Given the description of an element on the screen output the (x, y) to click on. 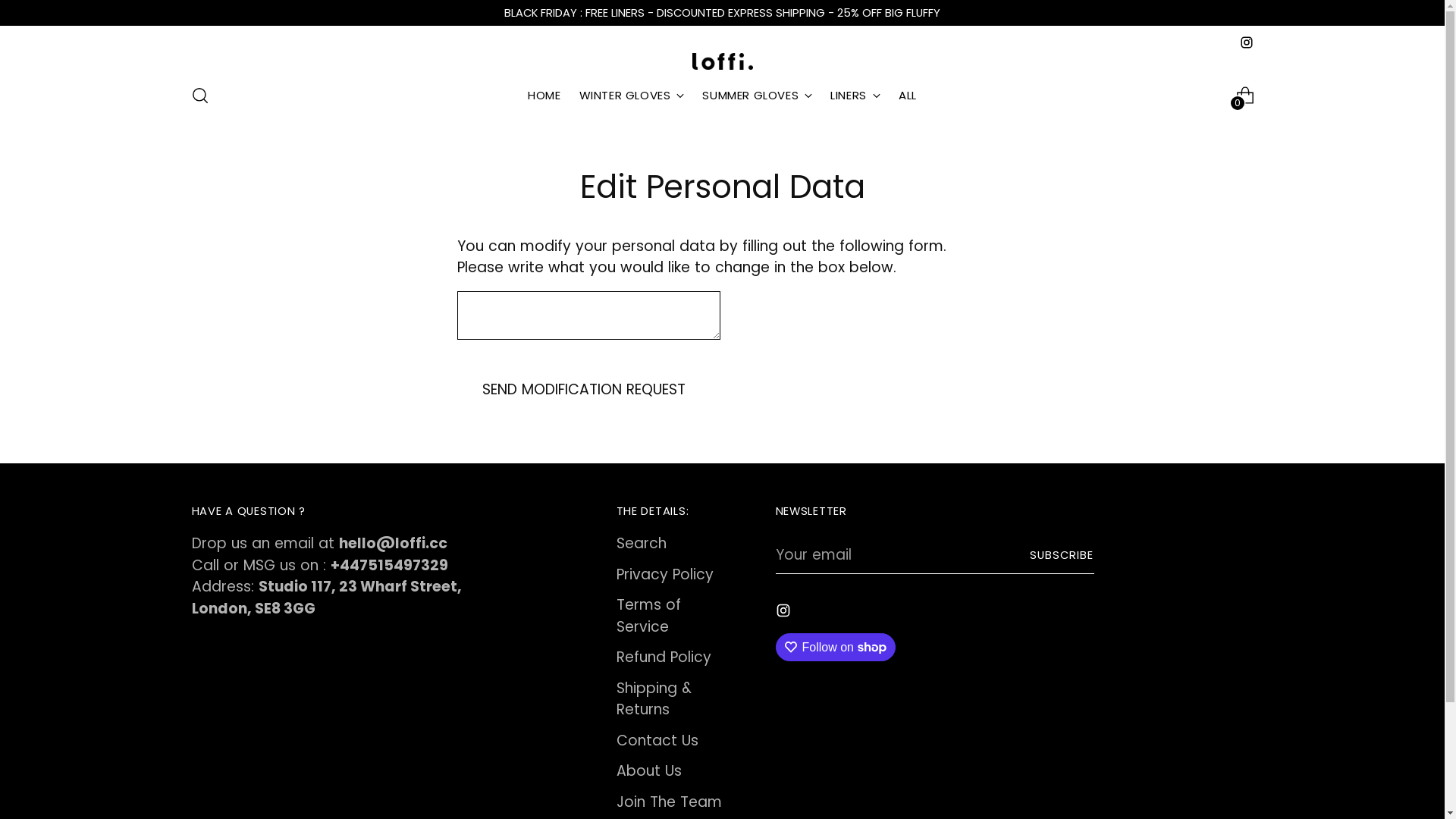
Join The Team Element type: text (668, 801)
0 Element type: text (1245, 95)
LINERS Element type: text (855, 95)
loffi.cc on Instagram Element type: hover (784, 613)
ALL Element type: text (907, 95)
Contact Us Element type: text (656, 740)
Search Element type: text (640, 543)
WINTER GLOVES Element type: text (631, 95)
SUMMER GLOVES Element type: text (757, 95)
SEND MODIFICATION REQUEST Element type: text (583, 389)
Privacy Policy Element type: text (663, 574)
loffi.cc on Instagram Element type: hover (1245, 42)
HOME Element type: text (543, 95)
Shipping & Returns Element type: text (652, 698)
SUBSCRIBE Element type: text (1061, 555)
Terms of Service Element type: text (647, 615)
About Us Element type: text (647, 770)
Refund Policy Element type: text (662, 656)
